Given the description of an element on the screen output the (x, y) to click on. 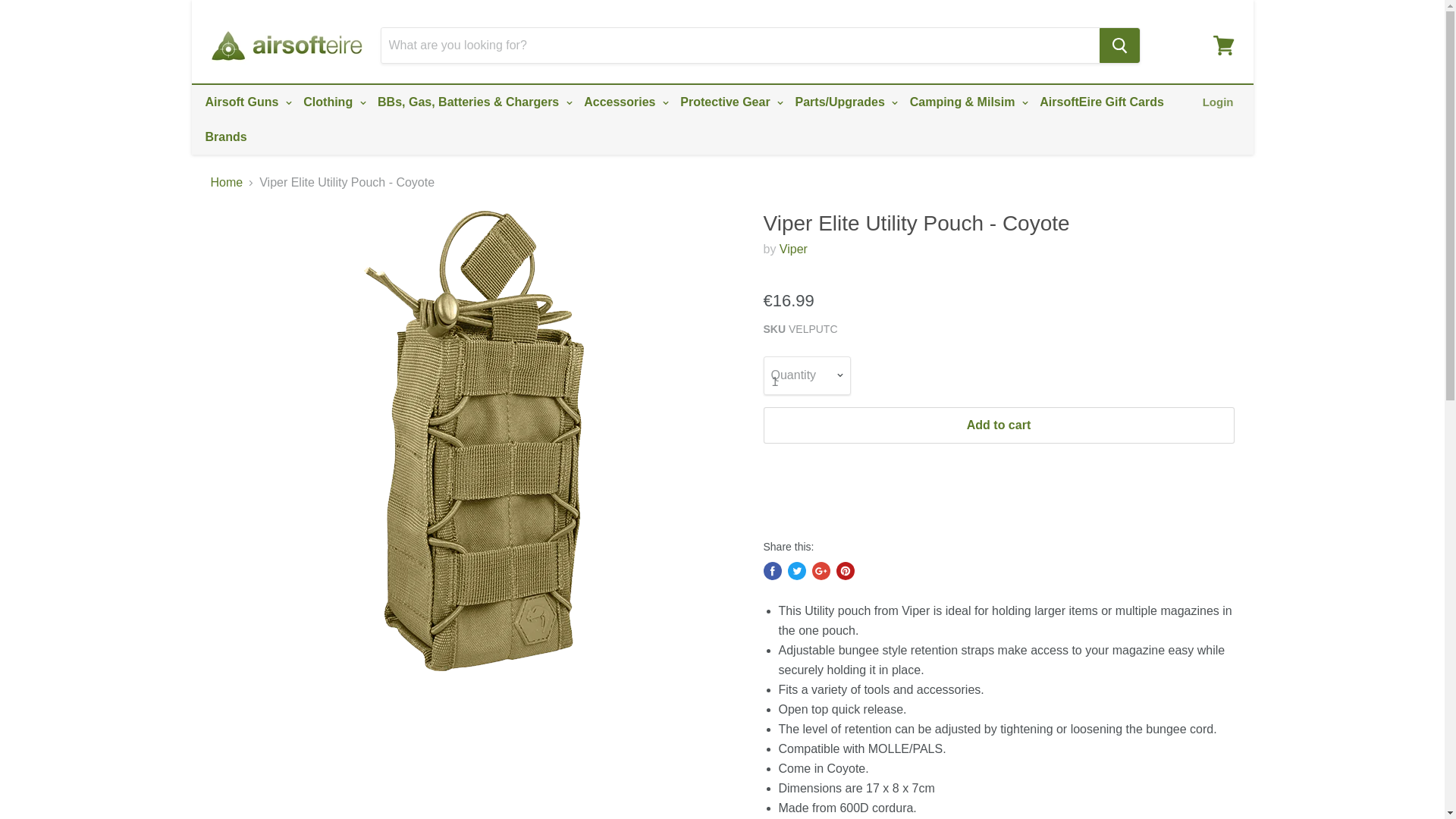
Clothing (332, 101)
Viper (793, 248)
Airsoft Guns (246, 101)
View cart (1223, 45)
